Given the description of an element on the screen output the (x, y) to click on. 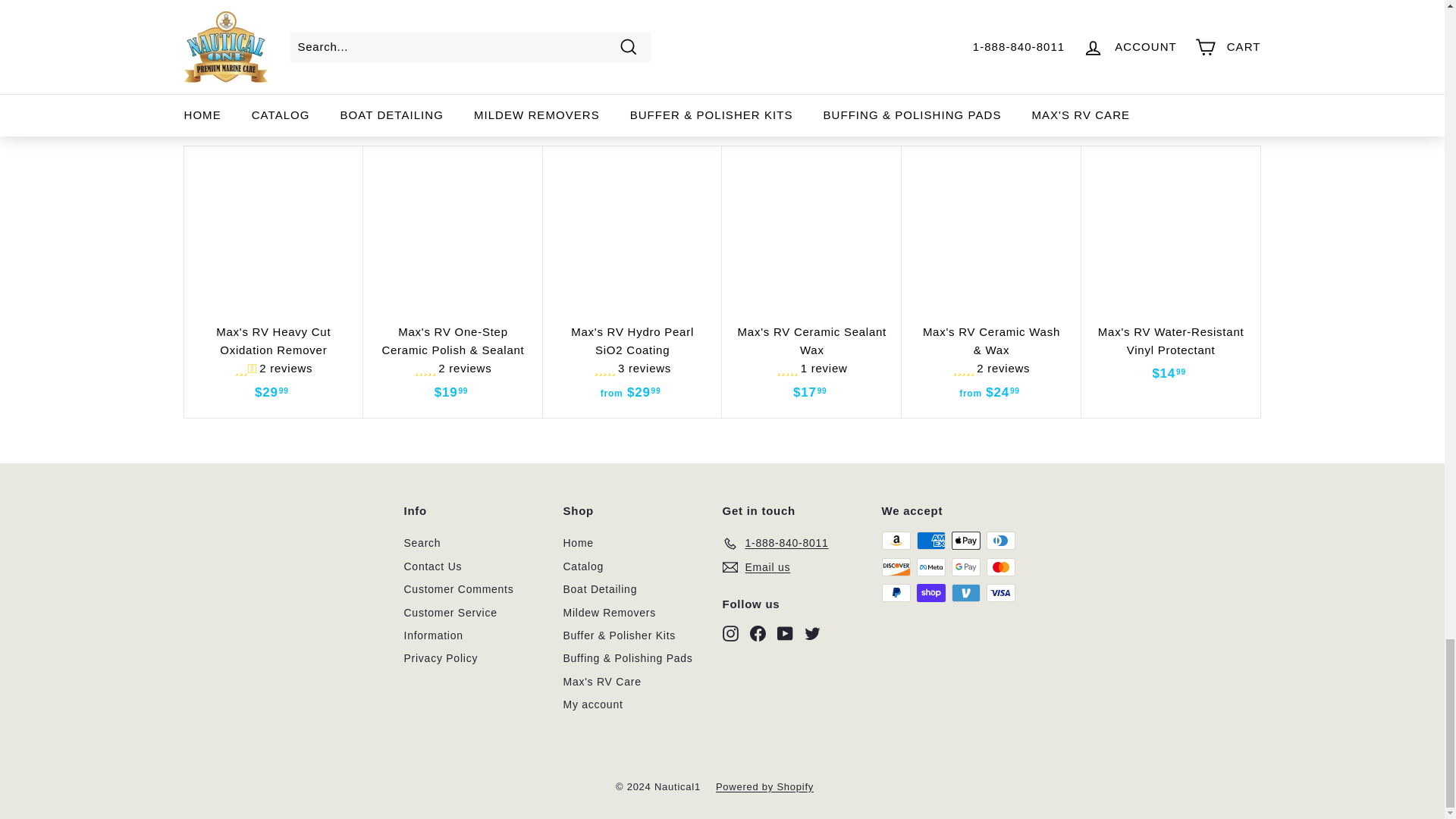
Amazon (895, 540)
Apple Pay (964, 540)
American Express (929, 540)
